Given the description of an element on the screen output the (x, y) to click on. 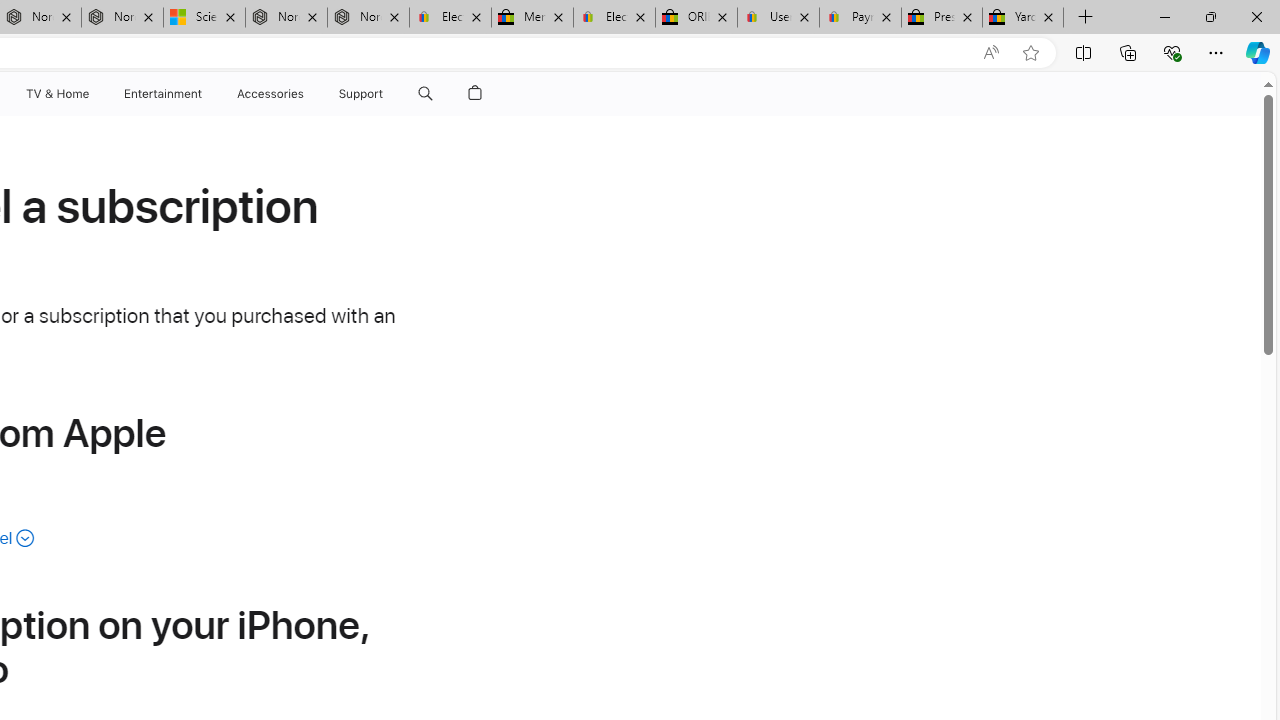
Split screen (1083, 52)
Entertainment (162, 93)
Entertainment (162, 93)
Class: globalnav-item globalnav-search shift-0-1 (425, 93)
Entertainment menu (205, 93)
Read aloud this page (Ctrl+Shift+U) (991, 53)
AutomationID: globalnav-bag (475, 93)
User Privacy Notice | eBay (778, 17)
Accessories (269, 93)
Yard, Garden & Outdoor Living (1023, 17)
Settings and more (Alt+F) (1215, 52)
